Given the description of an element on the screen output the (x, y) to click on. 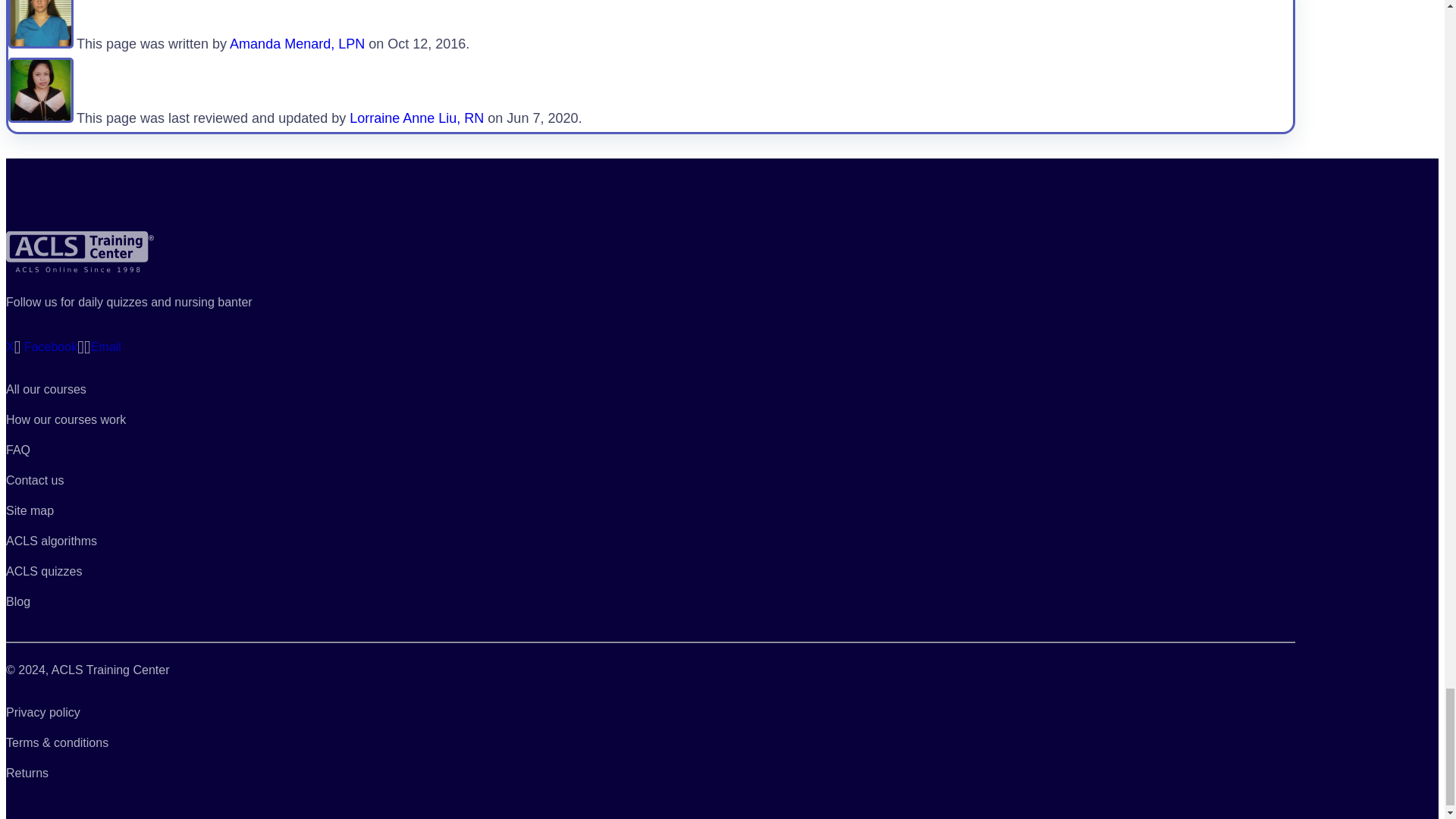
Amanda Menard, LPN (41, 43)
Lorraine Anne Liu, RN (416, 118)
Lorraine Anne Liu, RN (41, 118)
Amanda Menard, LPN (297, 43)
